Given the description of an element on the screen output the (x, y) to click on. 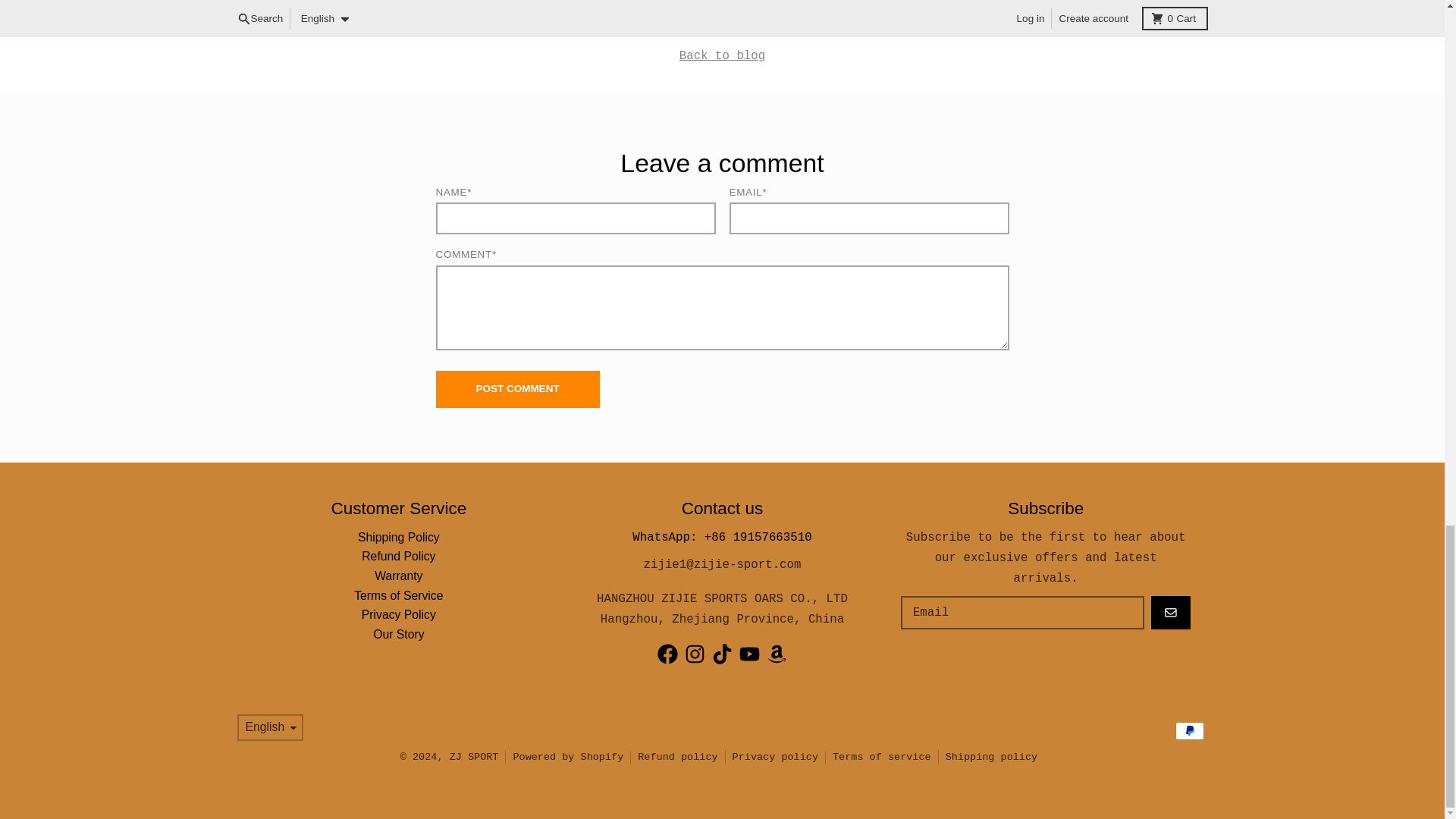
Amazon - ZJ SPORT (777, 653)
YouTube - ZJ SPORT (749, 653)
TikTok - ZJ SPORT (721, 653)
Instagram - ZJ SPORT (694, 653)
Facebook - ZJ SPORT (668, 653)
Post comment (516, 389)
